Given the description of an element on the screen output the (x, y) to click on. 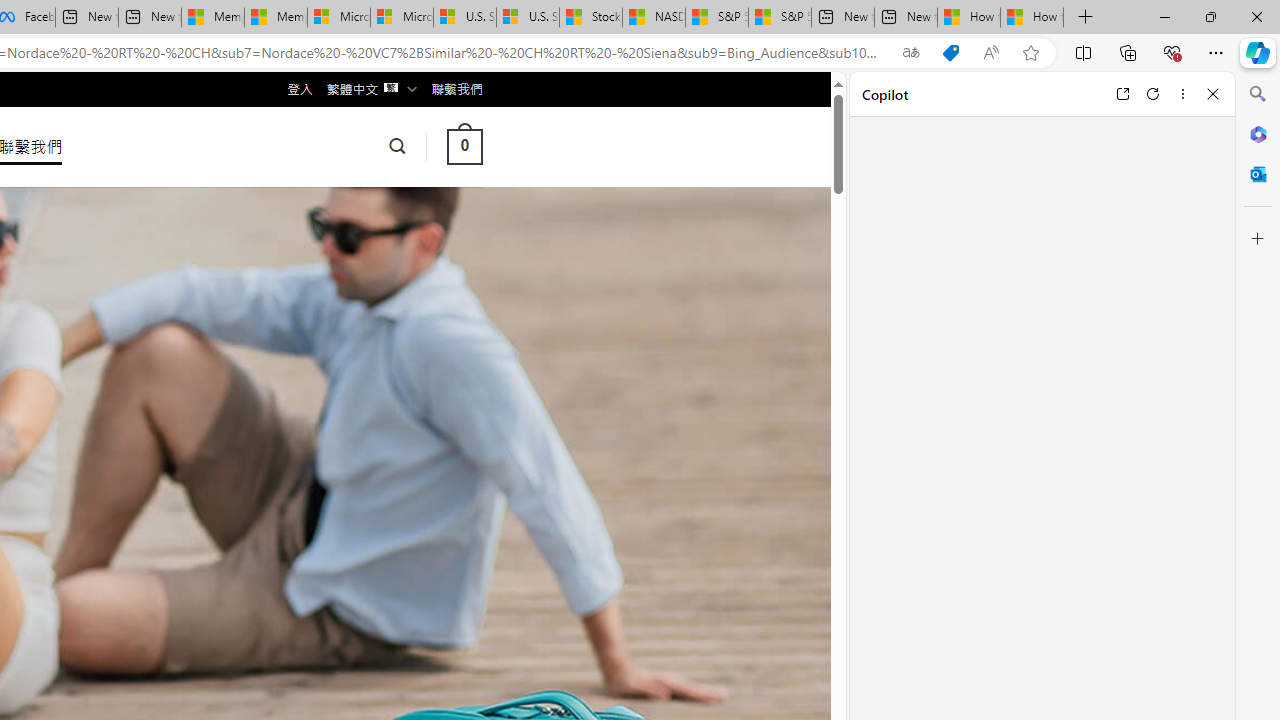
 0  (464, 146)
Show translate options (910, 53)
Outlook (1258, 174)
